Given the description of an element on the screen output the (x, y) to click on. 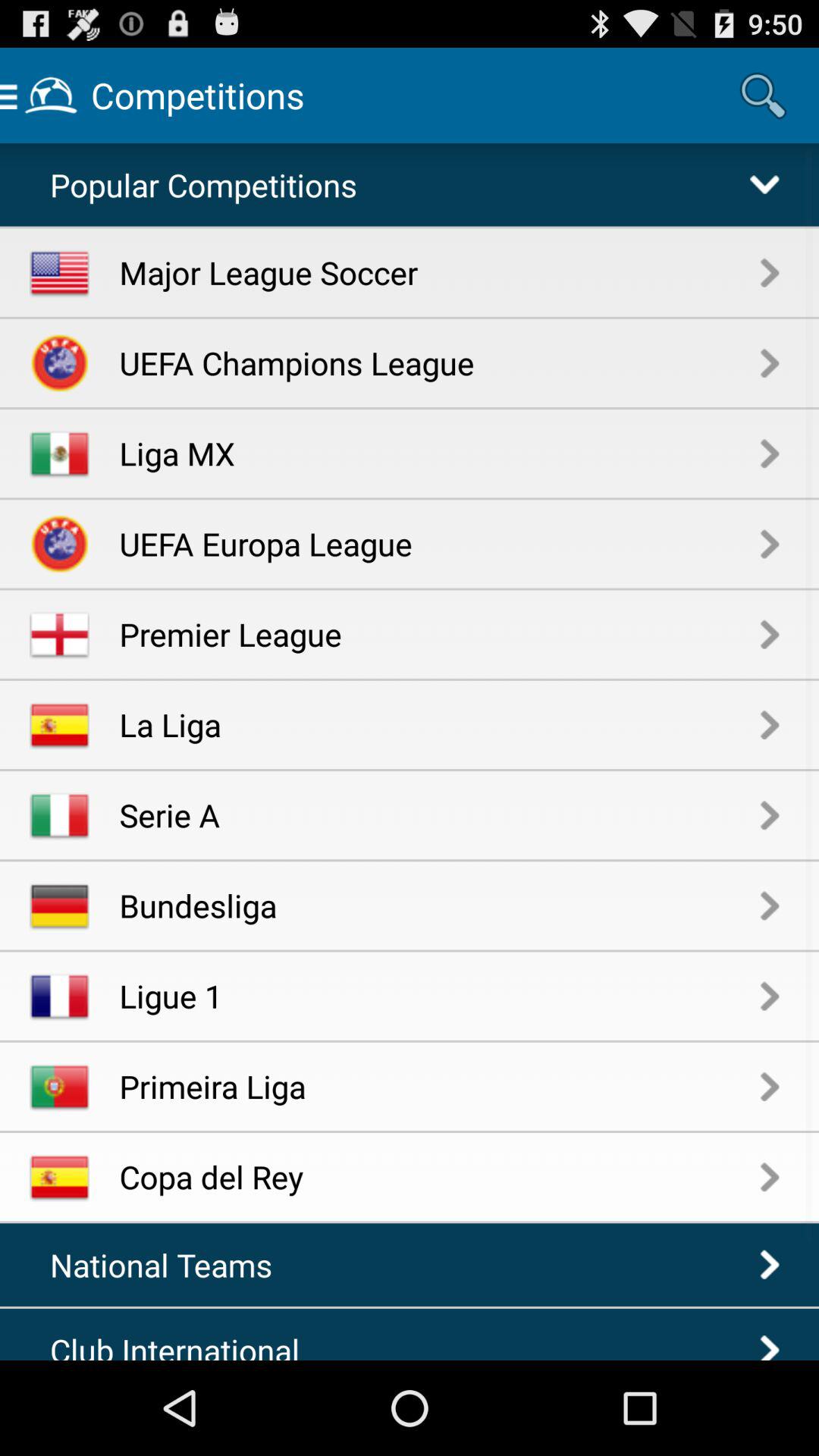
launch icon below the ligue 1 app (439, 1085)
